Given the description of an element on the screen output the (x, y) to click on. 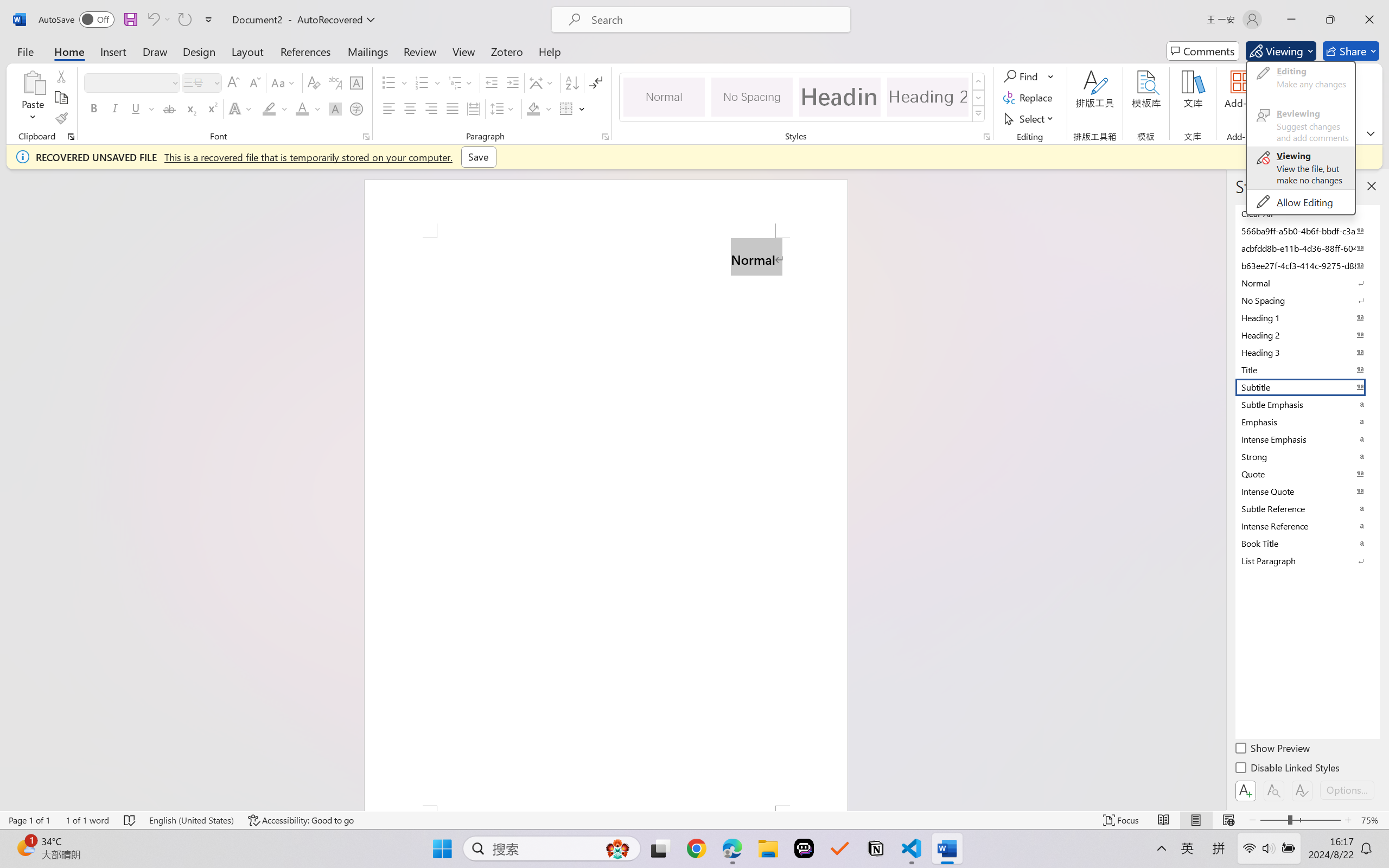
acbfdd8b-e11b-4d36-88ff-6049b138f862 (1306, 247)
Subscript (190, 108)
Class: NetUIButton (1301, 790)
Show Preview (1273, 749)
